Given the description of an element on the screen output the (x, y) to click on. 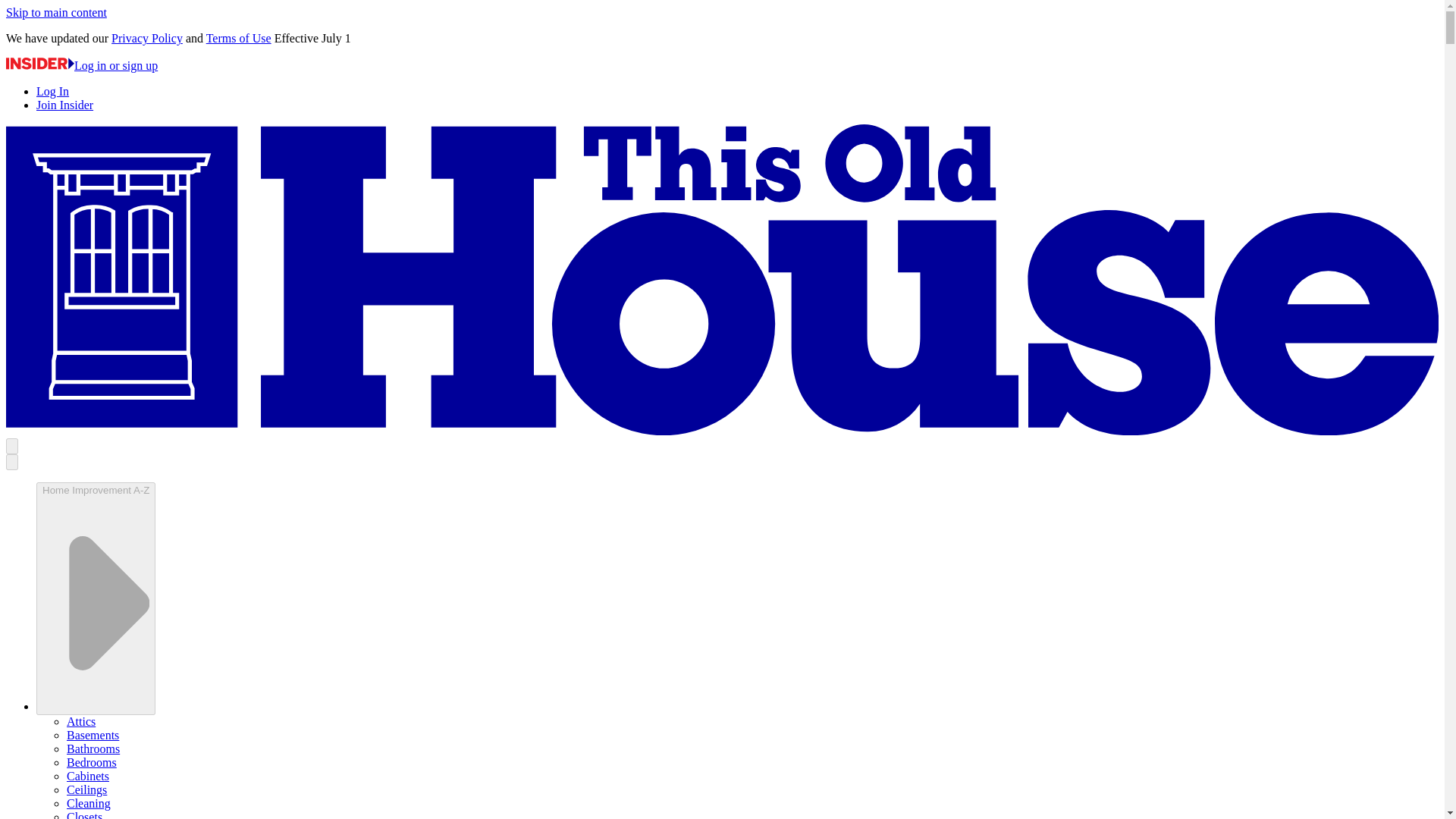
Cabinets (87, 775)
Log In (52, 91)
Privacy Policy (147, 38)
Terms of Use (238, 38)
Attics (81, 721)
Bedrooms (91, 762)
Ceilings (86, 789)
Closets (83, 814)
Bathrooms (92, 748)
Basements (92, 735)
Log in or sign up (81, 65)
Skip to main content (55, 11)
Cleaning (88, 802)
Join Insider (64, 104)
